Given the description of an element on the screen output the (x, y) to click on. 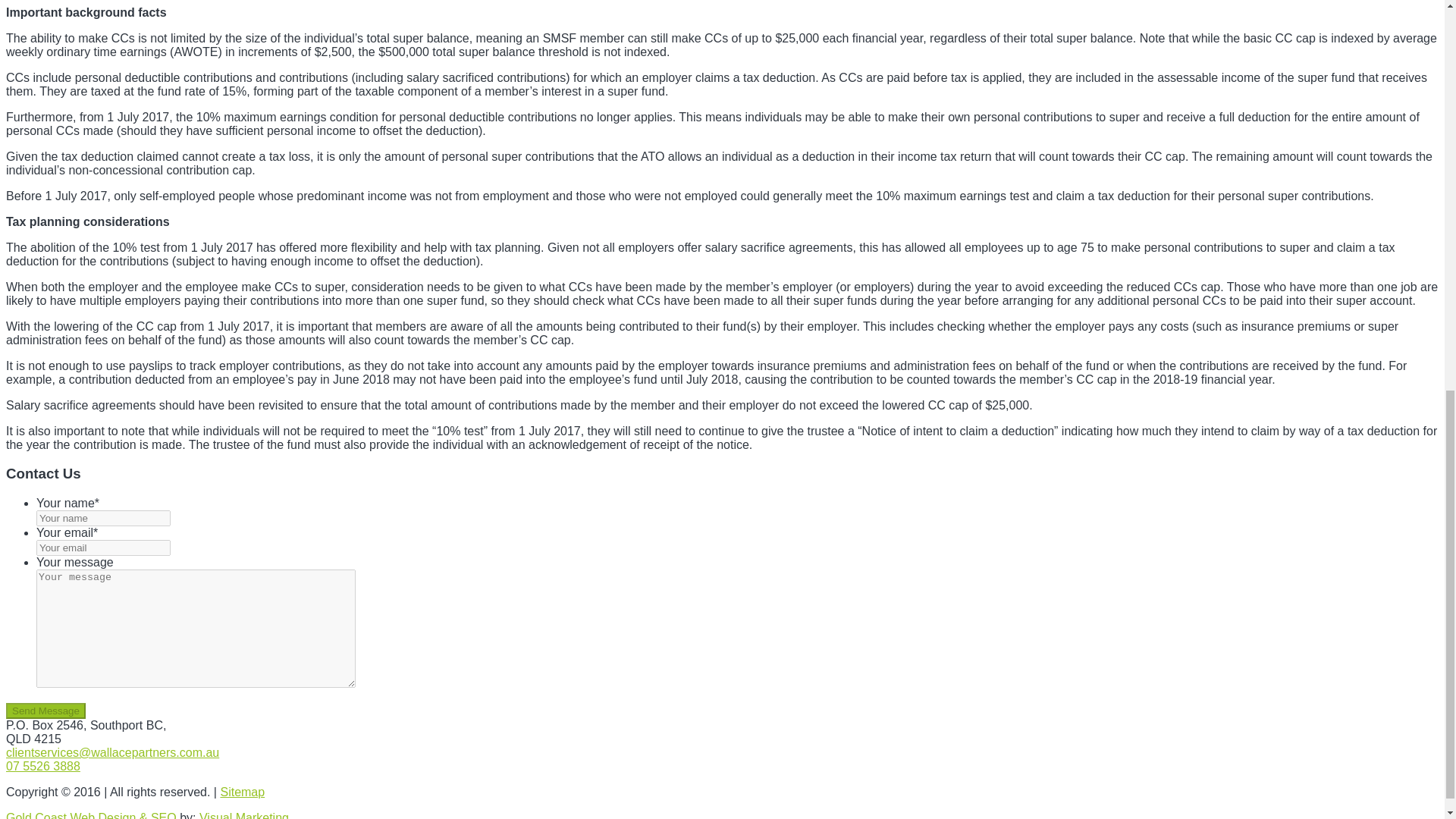
Sitemap (241, 791)
07 5526 3888 (42, 766)
Send Message (45, 710)
Send Message (45, 710)
